Given the description of an element on the screen output the (x, y) to click on. 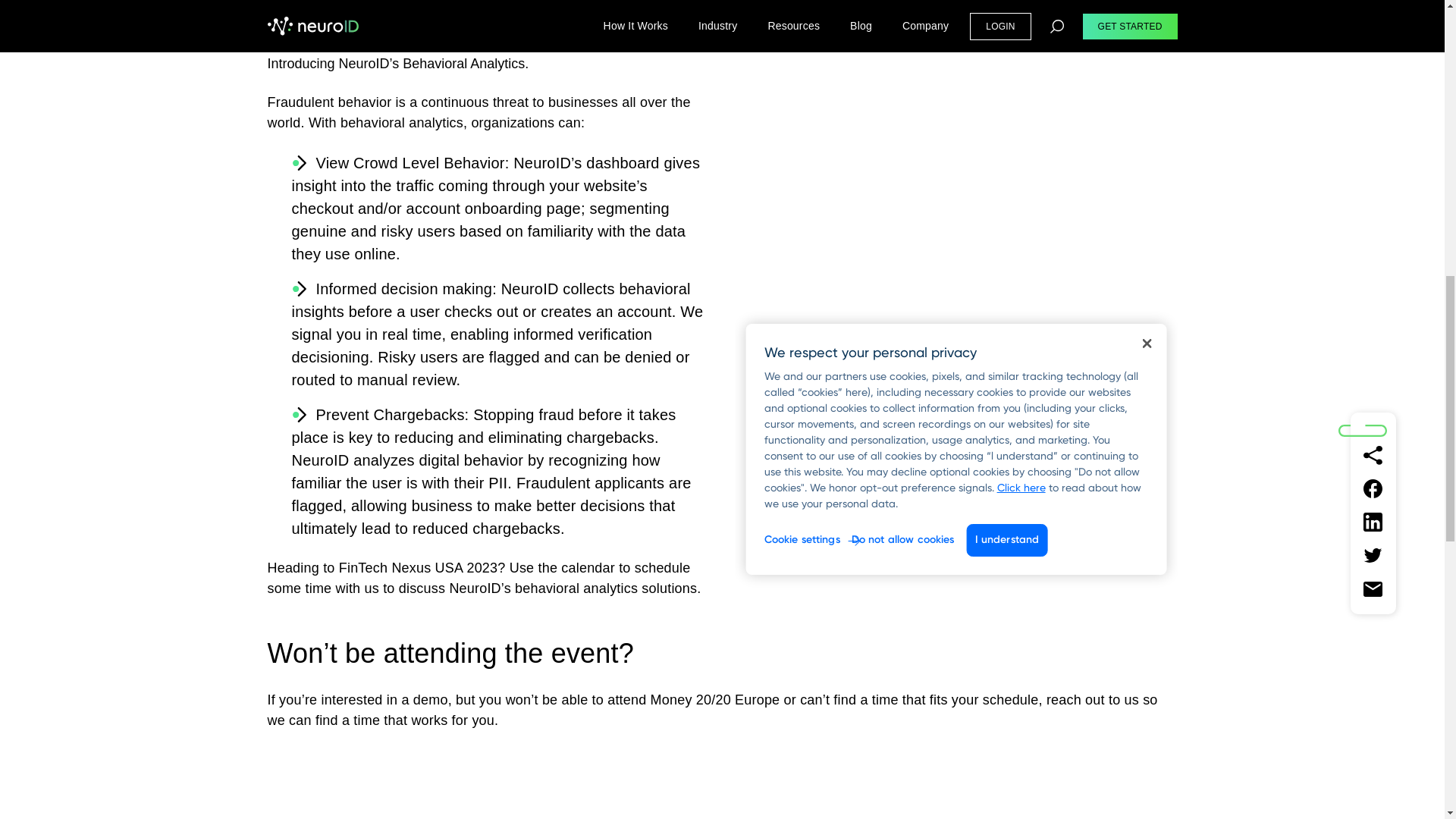
Form 0 (721, 784)
